Given the description of an element on the screen output the (x, y) to click on. 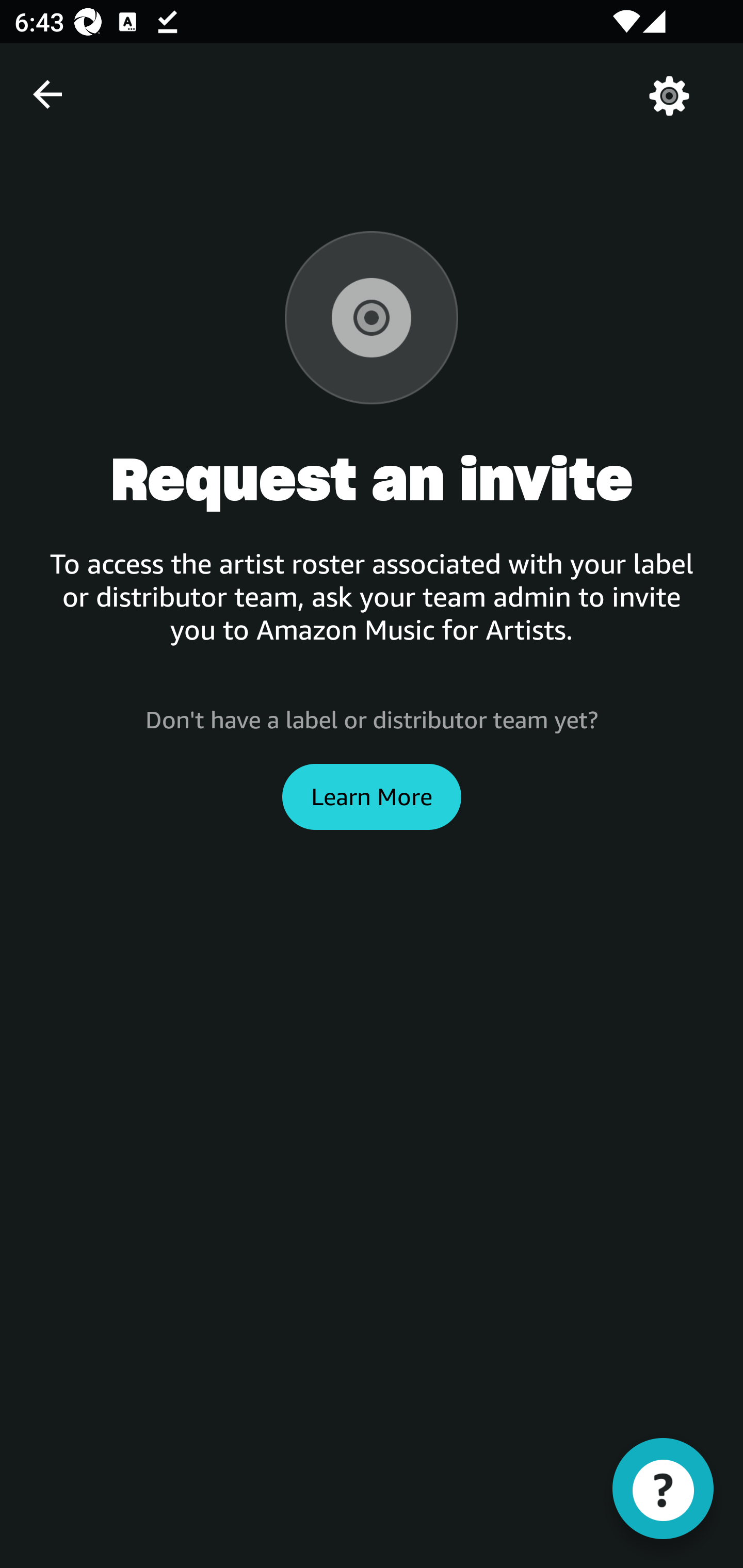
Learn more button Learn More (371, 796)
